Given the description of an element on the screen output the (x, y) to click on. 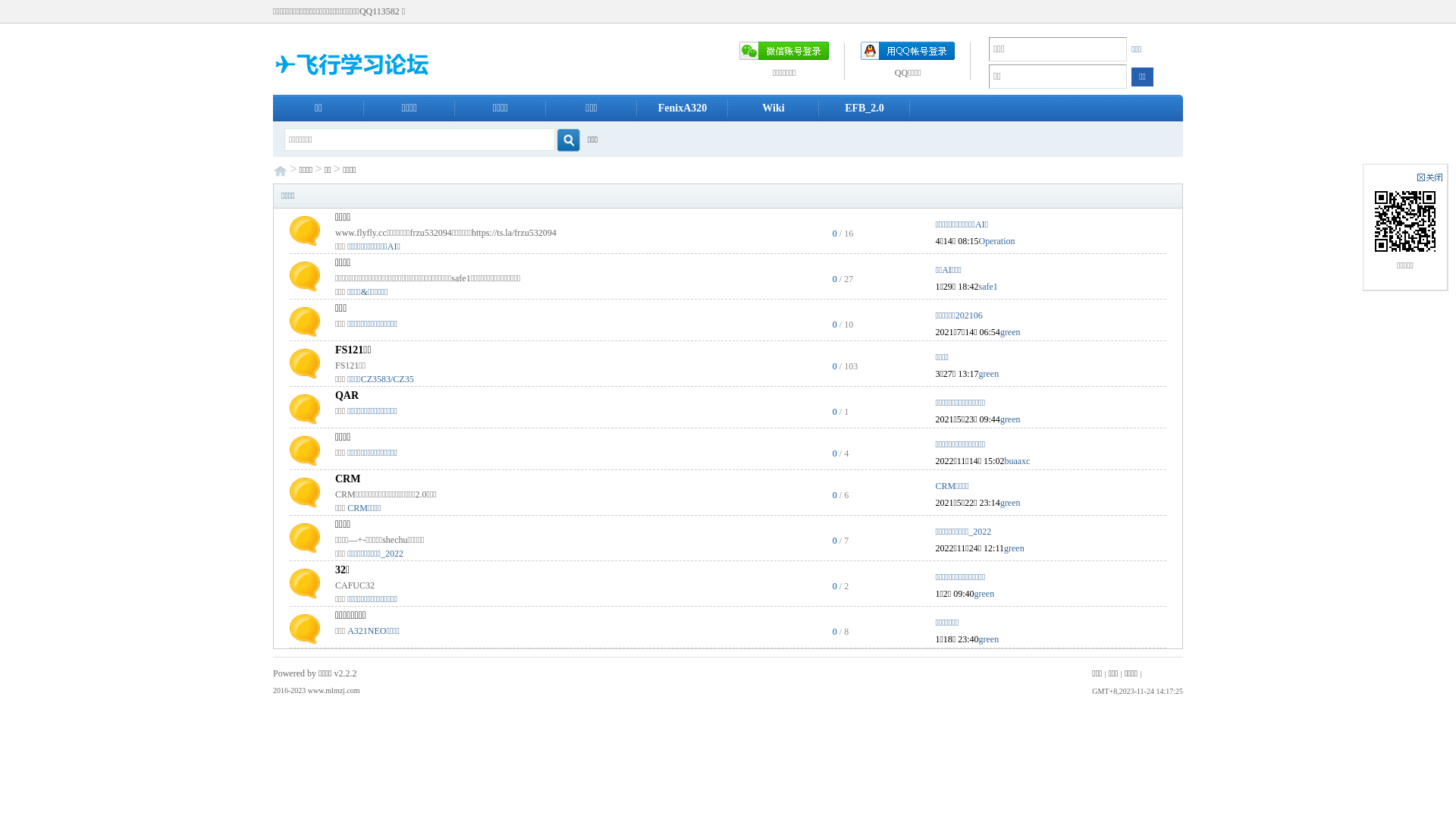
safe1 Element type: text (987, 286)
green Element type: text (1010, 331)
green Element type: text (1014, 547)
Wiki Element type: text (773, 107)
green Element type: text (988, 373)
QAR Element type: text (346, 395)
CRM Element type: text (347, 478)
green Element type: text (983, 593)
FenixA320 Element type: text (682, 107)
green Element type: text (1010, 502)
green Element type: text (988, 638)
Operation Element type: text (996, 240)
buaaxc Element type: text (1016, 460)
EFB_2.0 Element type: text (864, 107)
green Element type: text (1010, 419)
